Given the description of an element on the screen output the (x, y) to click on. 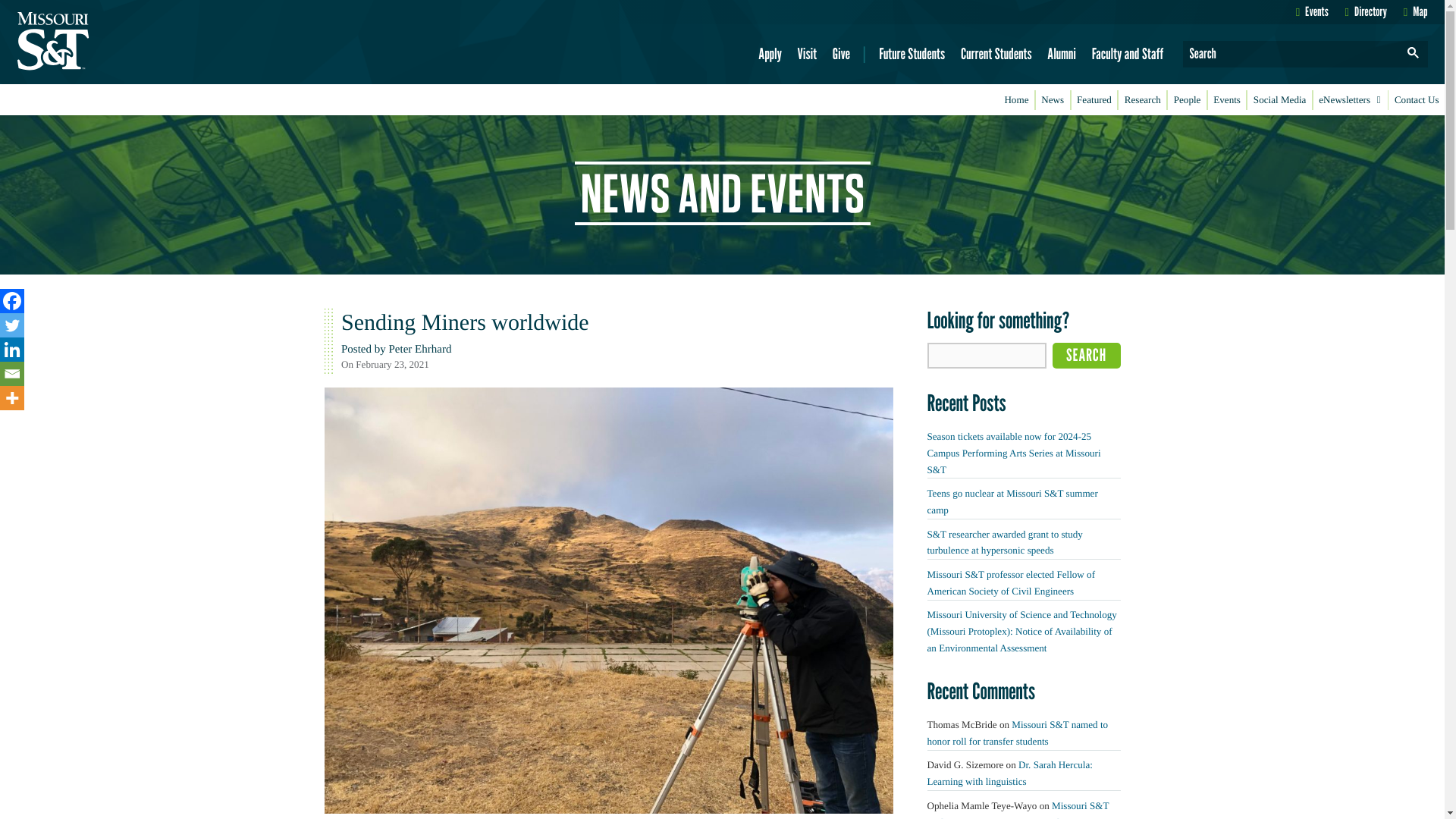
Featured (1094, 99)
Home (1015, 99)
Directory (1366, 11)
Events (1227, 99)
News and Events (722, 193)
Visit (806, 53)
Twitter (12, 324)
News (1052, 99)
Social Media (1279, 99)
Map (1415, 11)
Facebook (12, 300)
Email (12, 373)
Current Students (995, 53)
News and Events (722, 222)
More (12, 397)
